Given the description of an element on the screen output the (x, y) to click on. 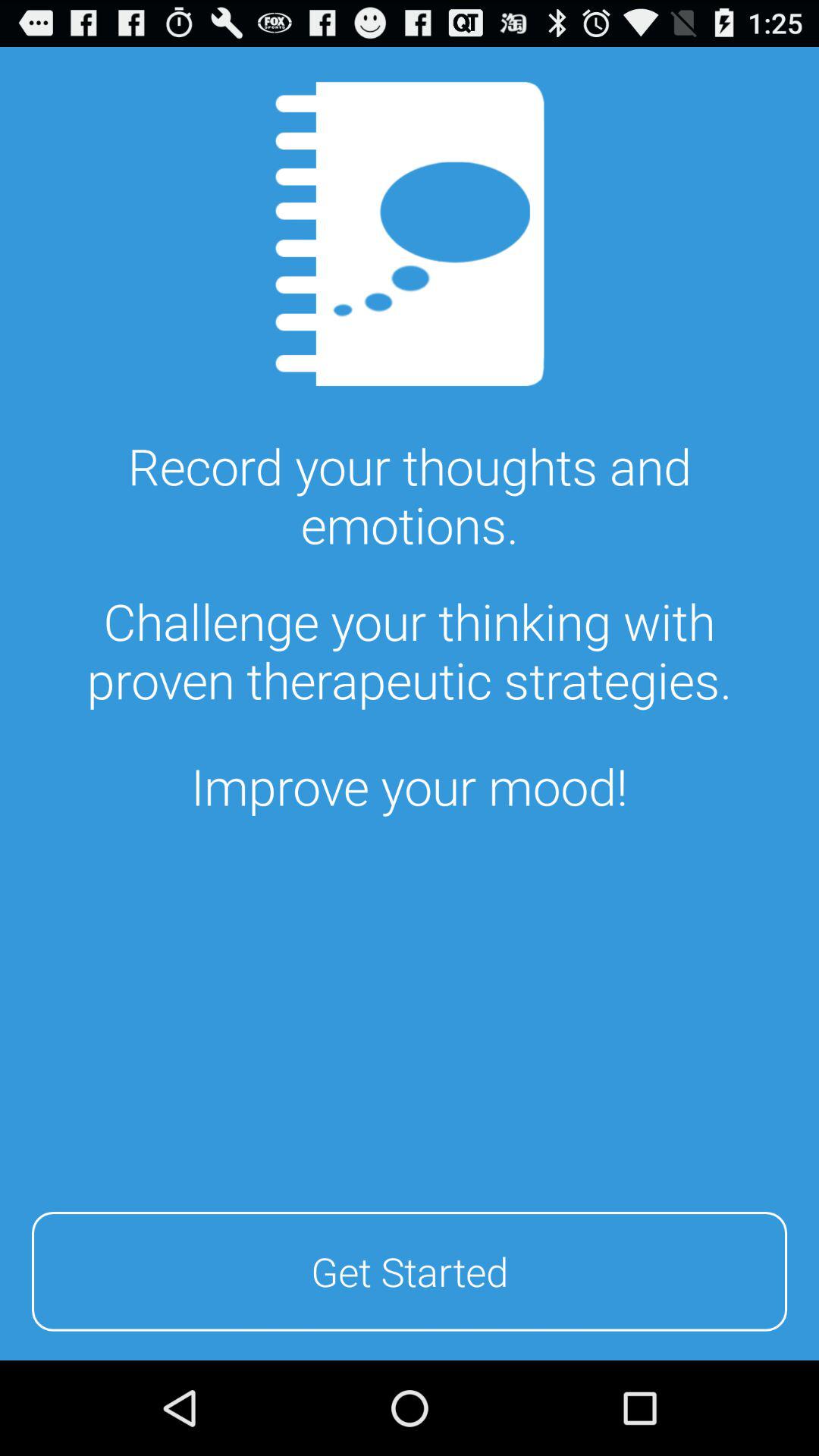
flip until get started (409, 1268)
